Given the description of an element on the screen output the (x, y) to click on. 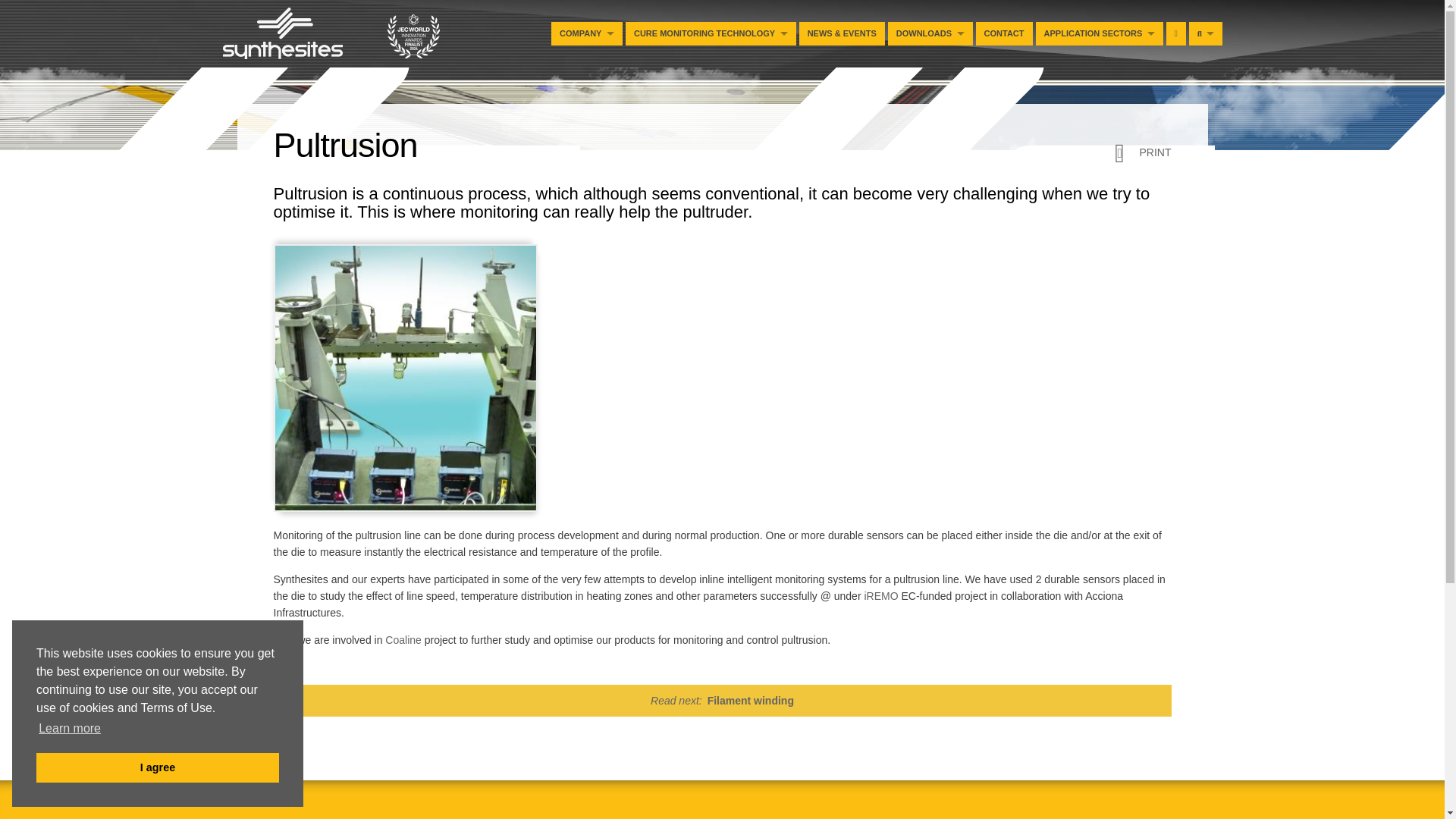
Learn more (69, 728)
CURE MONITORING TECHNOLOGY (711, 33)
COMPANY (587, 33)
CONTACT (1003, 33)
I agree (157, 767)
APPLICATION SECTORS (1099, 33)
DOWNLOADS (930, 33)
